Given the description of an element on the screen output the (x, y) to click on. 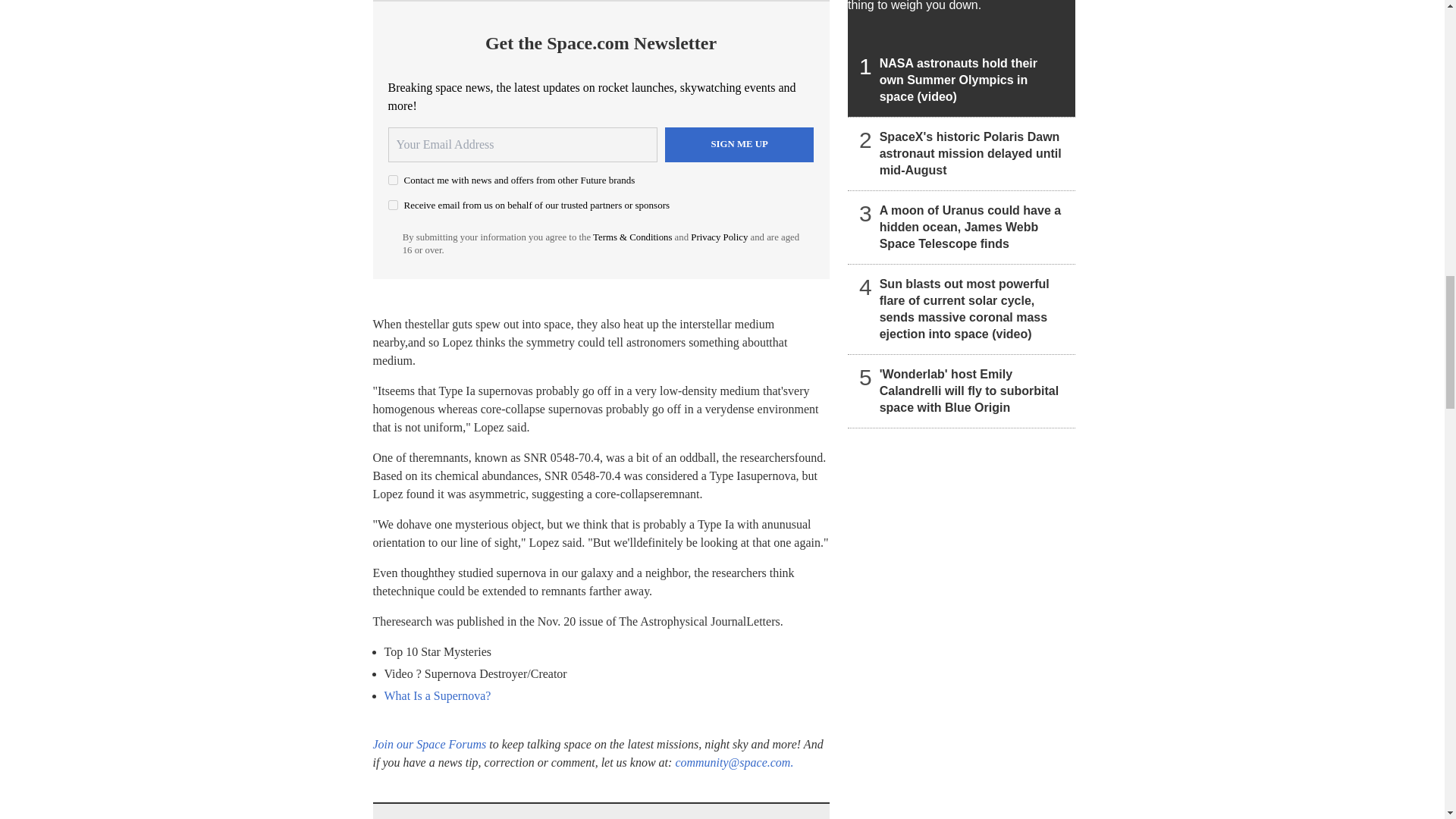
on (392, 180)
on (392, 204)
Sign me up (739, 144)
